Given the description of an element on the screen output the (x, y) to click on. 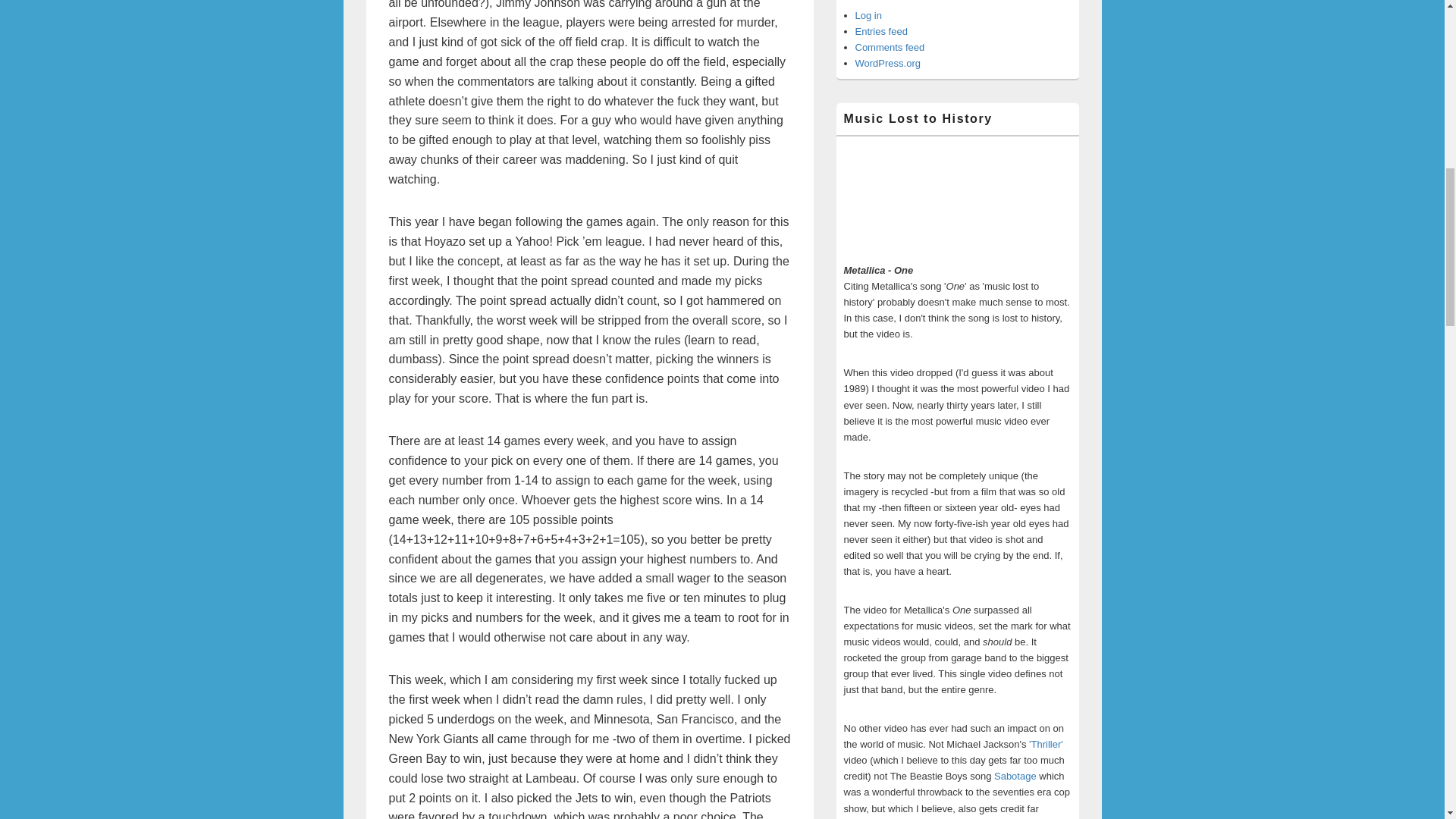
Sabotage (1015, 776)
WordPress.org (888, 62)
'Thriller' (1045, 744)
Log in (869, 15)
Comments feed (890, 47)
Entries feed (881, 30)
